Given the description of an element on the screen output the (x, y) to click on. 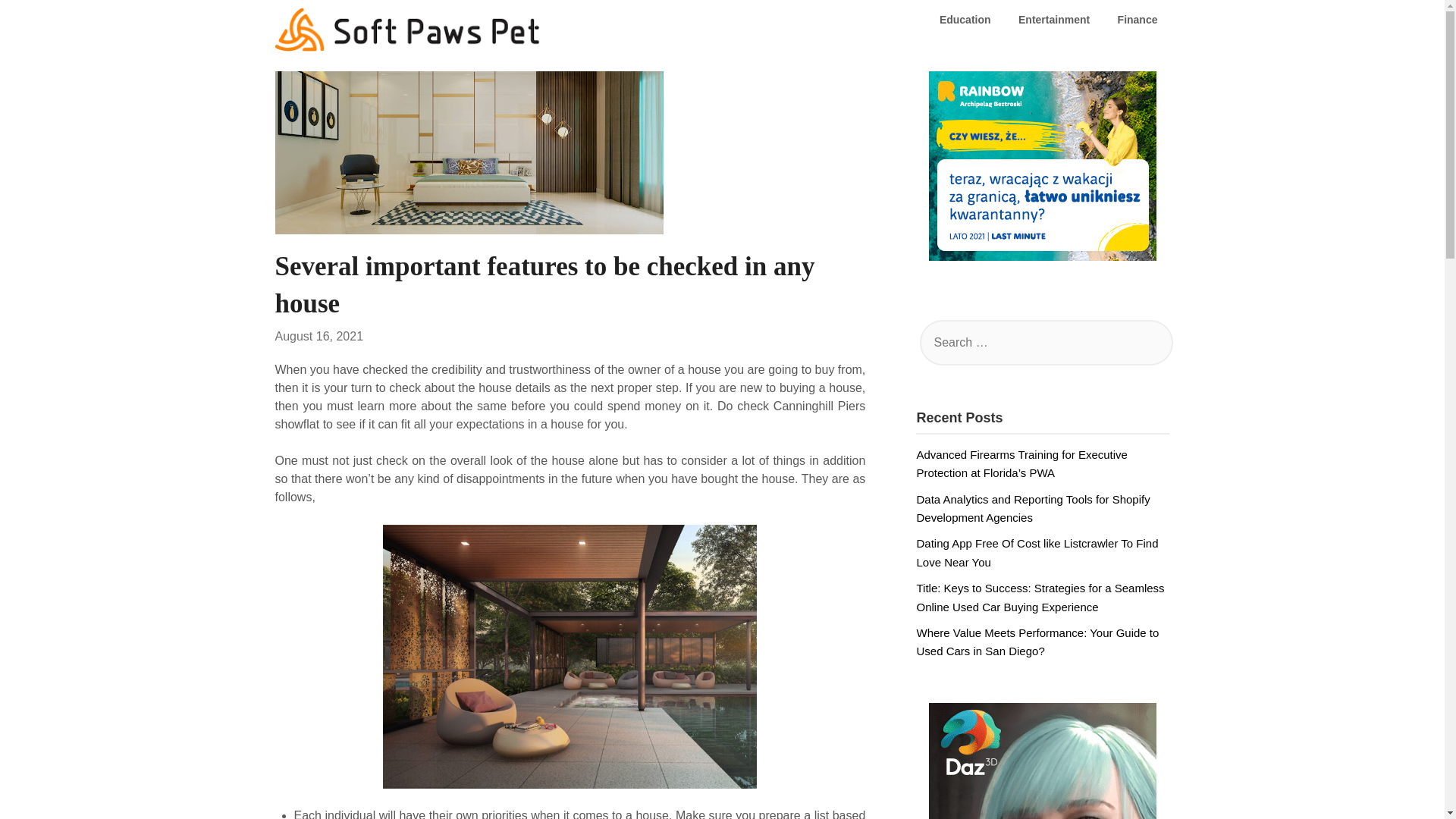
August 16, 2021 (318, 336)
Entertainment (1054, 20)
Finance (1137, 20)
Education (965, 20)
Search (38, 22)
